Given the description of an element on the screen output the (x, y) to click on. 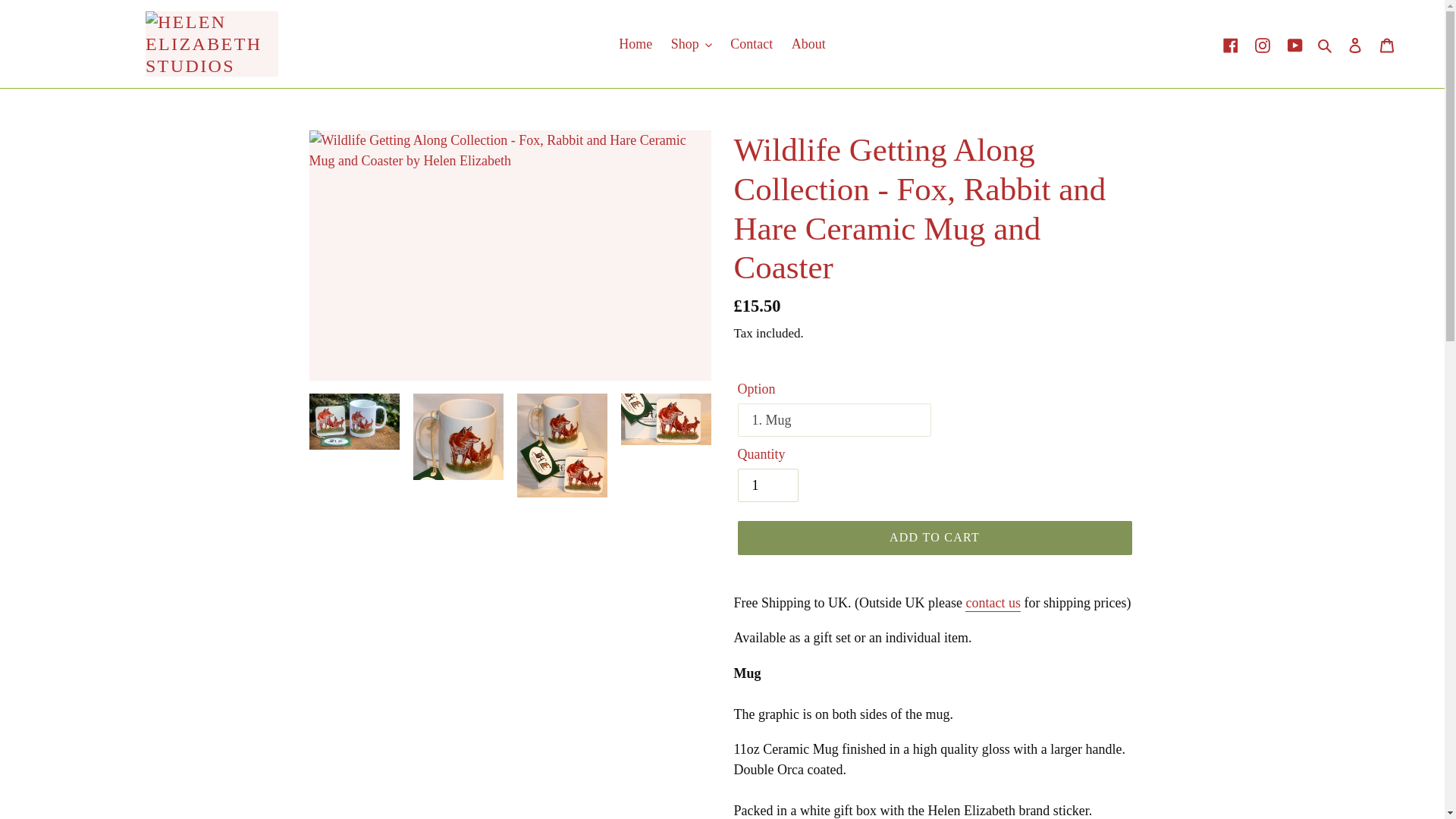
Shop (691, 43)
Search (1326, 44)
Contact (751, 43)
Log in (1355, 44)
1 (766, 485)
Home (635, 43)
About (808, 43)
Cart (1387, 44)
contact us (986, 603)
